Given the description of an element on the screen output the (x, y) to click on. 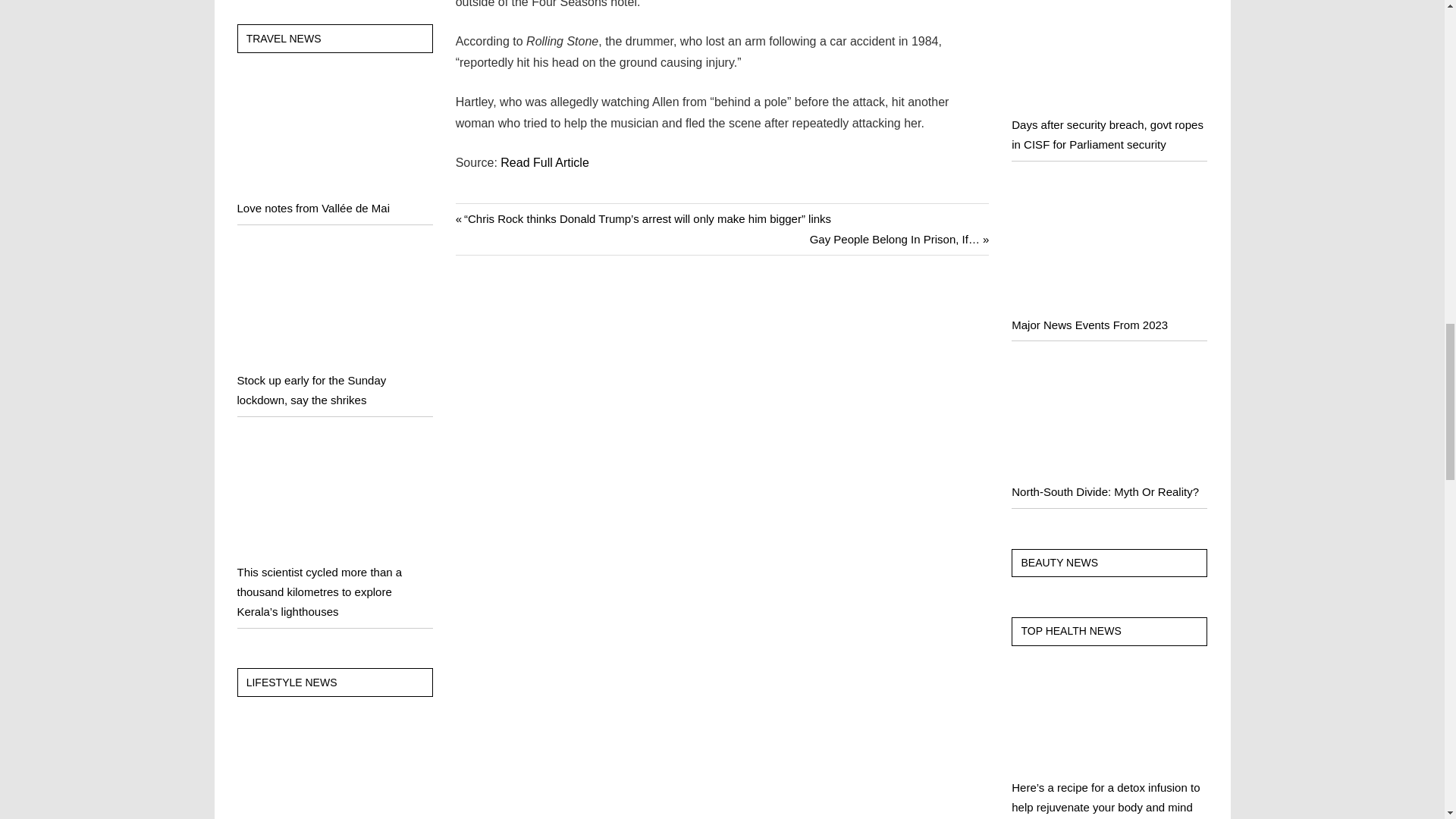
Read Full Article (544, 162)
